Given the description of an element on the screen output the (x, y) to click on. 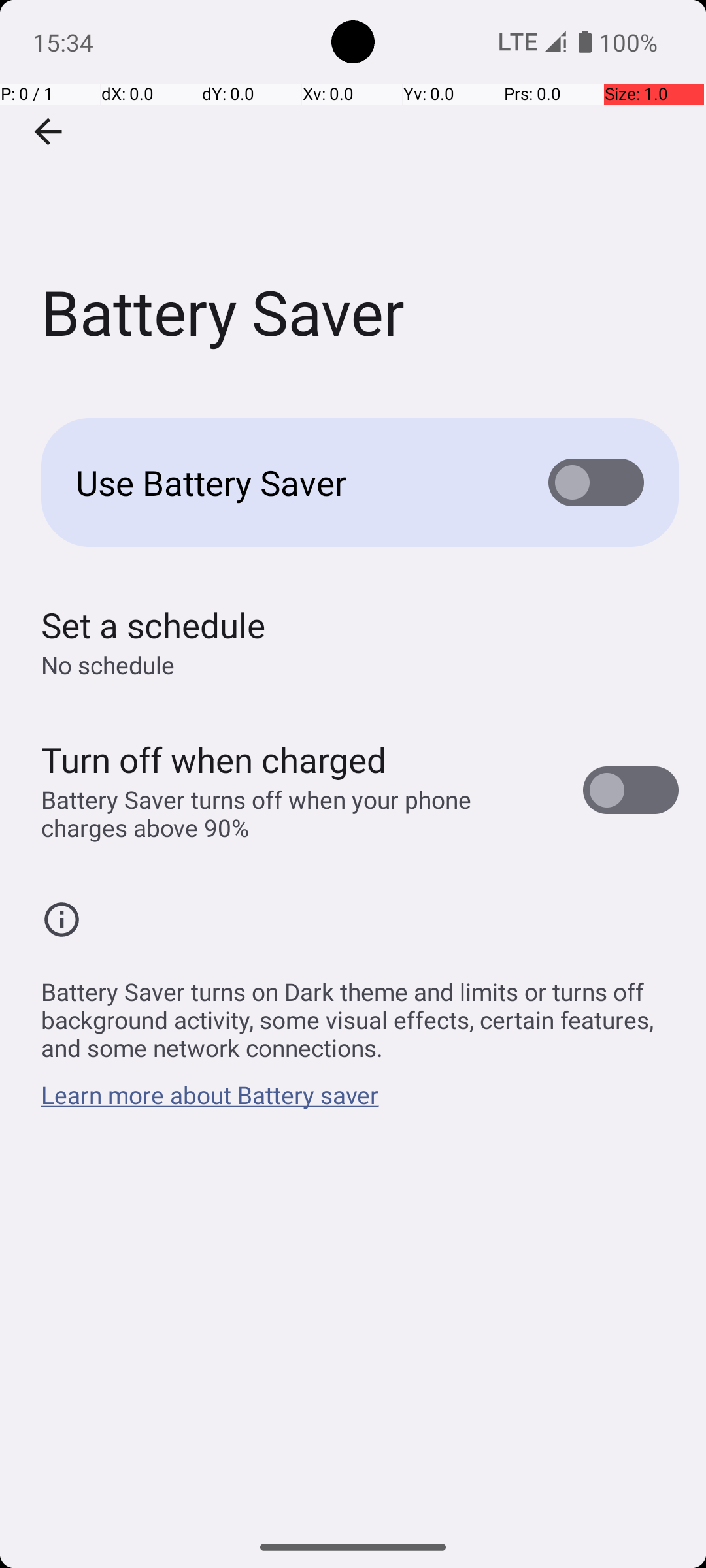
Use Battery Saver Element type: android.widget.TextView (291, 482)
Set a schedule Element type: android.widget.TextView (153, 624)
No schedule Element type: android.widget.TextView (107, 664)
Turn off when charged Element type: android.widget.TextView (213, 759)
Battery Saver turns off when your phone charges above 90% Element type: android.widget.TextView (298, 813)
Battery Saver turns on Dark theme and limits or turns off background activity, some visual effects, certain features, and some network connections. Element type: android.widget.TextView (359, 1012)
Learn more about Battery saver Element type: android.widget.TextView (210, 1101)
